Given the description of an element on the screen output the (x, y) to click on. 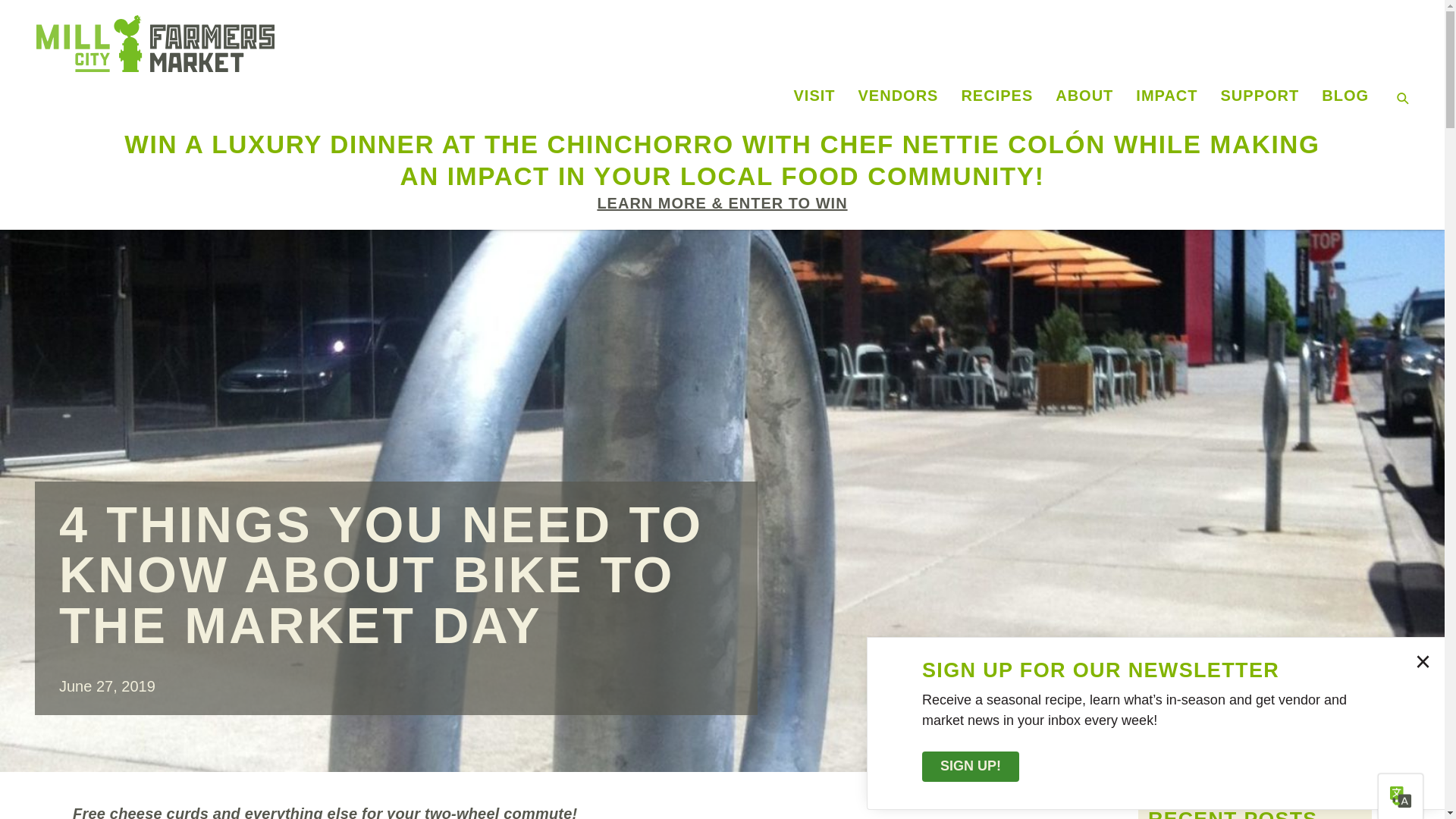
Mill City Farmers Market (397, 43)
RECIPES (996, 94)
Search (20, 15)
BLOG (1345, 94)
VENDORS (898, 94)
ABOUT (1083, 94)
IMPACT (1166, 94)
SUPPORT (1260, 94)
VISIT (815, 94)
